Given the description of an element on the screen output the (x, y) to click on. 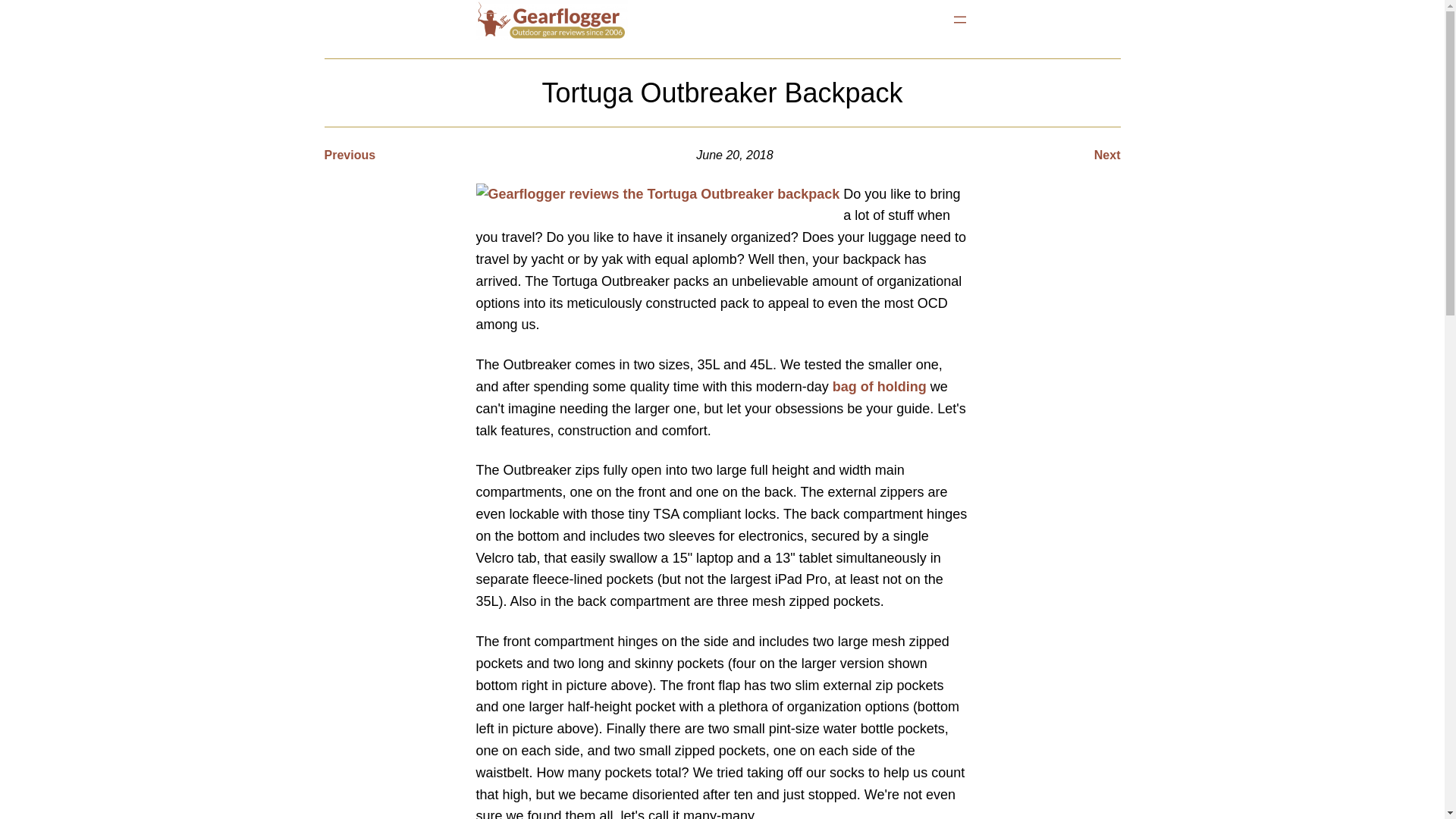
bag of holding (879, 386)
Previous (349, 154)
Next (1107, 154)
Gearflogger reviews the Tortuga Outbreaker backpack (658, 194)
